Given the description of an element on the screen output the (x, y) to click on. 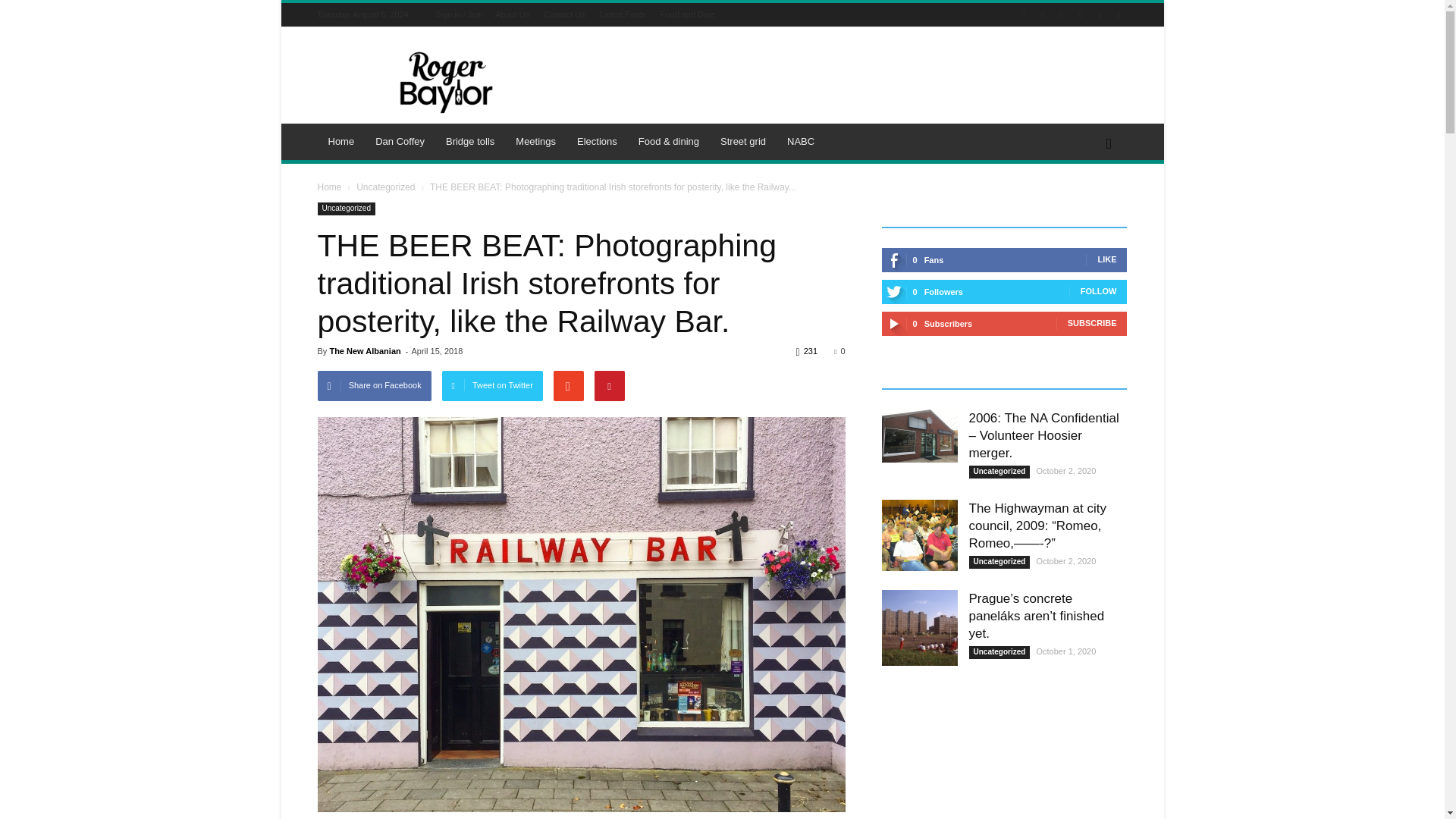
Behance (1023, 13)
Food and Dine (686, 13)
Instagram (1061, 13)
Vimeo (1099, 13)
VKontakte (1117, 13)
About Us (512, 13)
Twitter (1080, 13)
Home (341, 141)
View all posts in Uncategorized (385, 186)
Contact Us (564, 13)
